Given the description of an element on the screen output the (x, y) to click on. 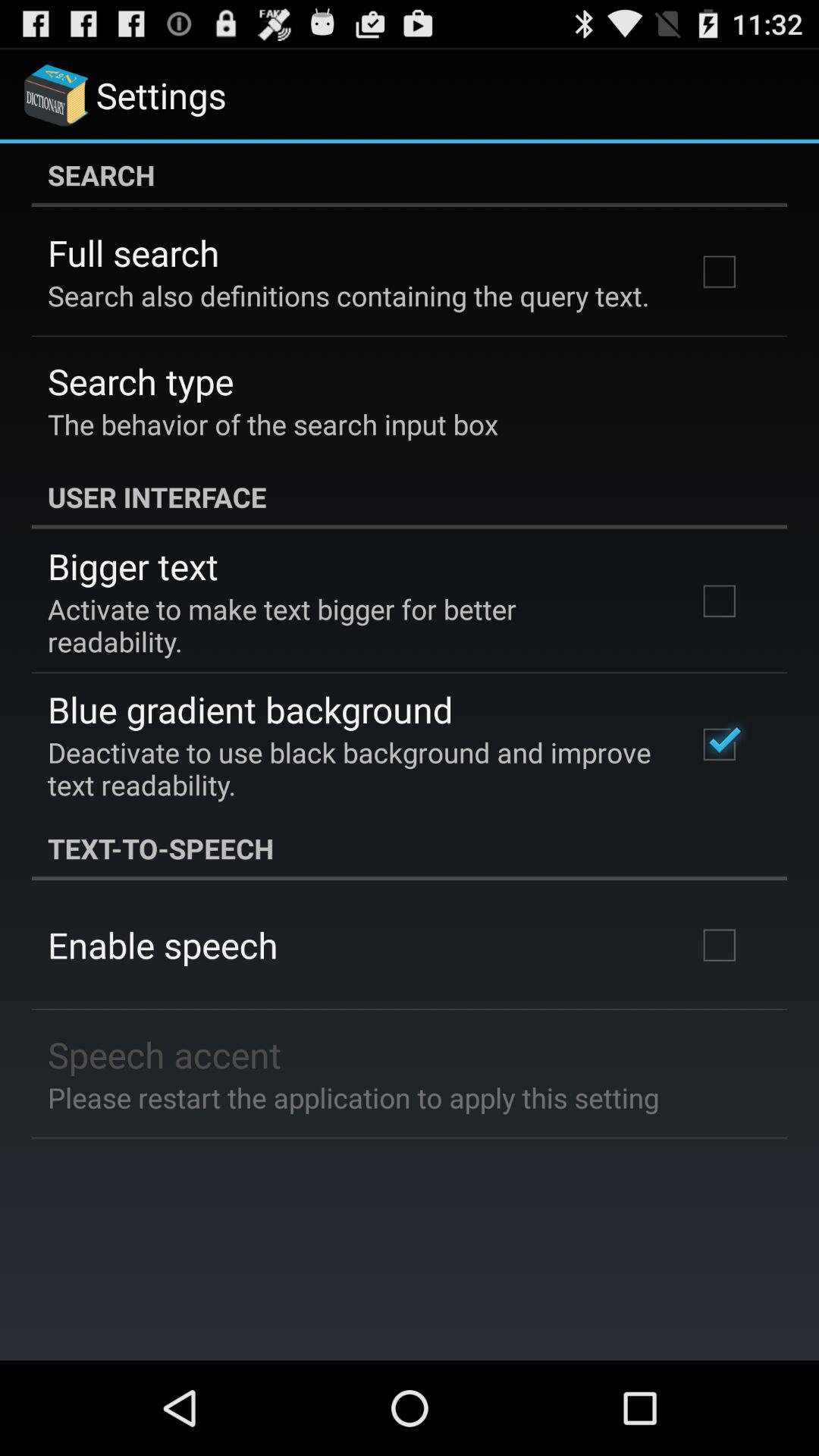
turn on the icon below the blue gradient background app (351, 768)
